Given the description of an element on the screen output the (x, y) to click on. 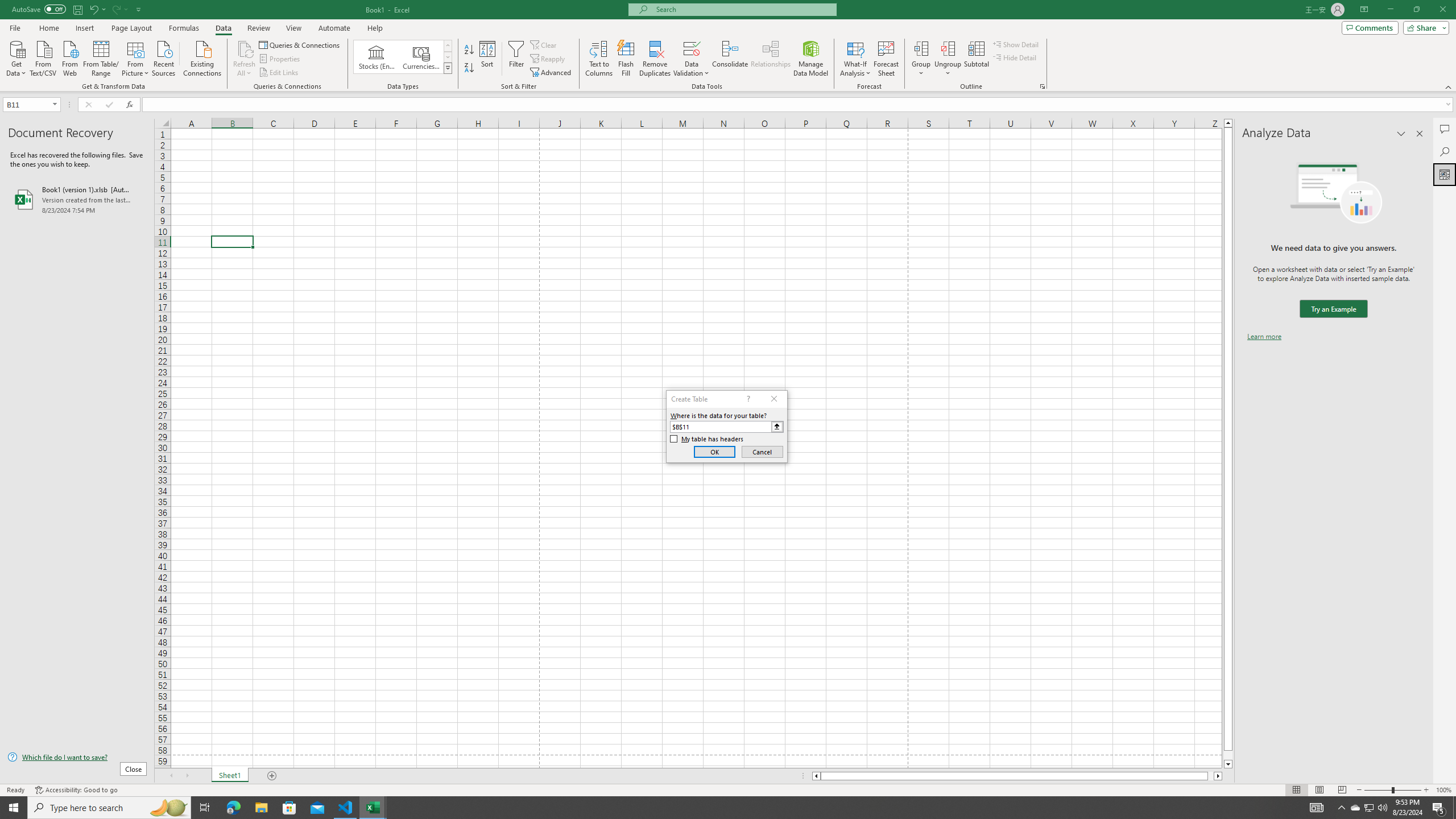
Stocks (English) (375, 56)
Subtotal (976, 58)
Clear (544, 44)
Data Types (448, 67)
We need data to give you answers. Try an Example (1333, 308)
Text to Columns... (598, 58)
